Given the description of an element on the screen output the (x, y) to click on. 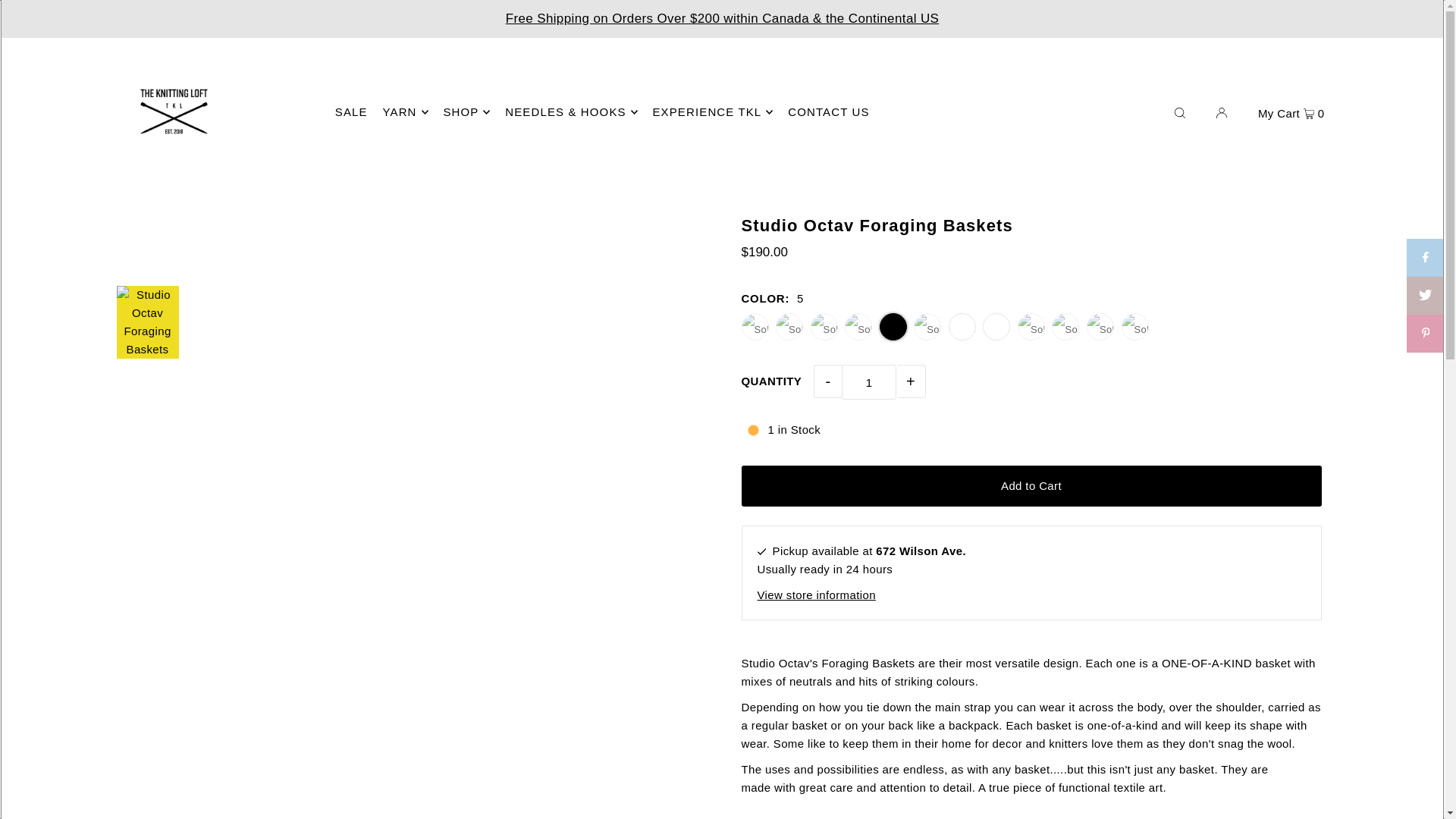
YARN (404, 112)
Add to Cart (1031, 486)
1 (868, 381)
